Given the description of an element on the screen output the (x, y) to click on. 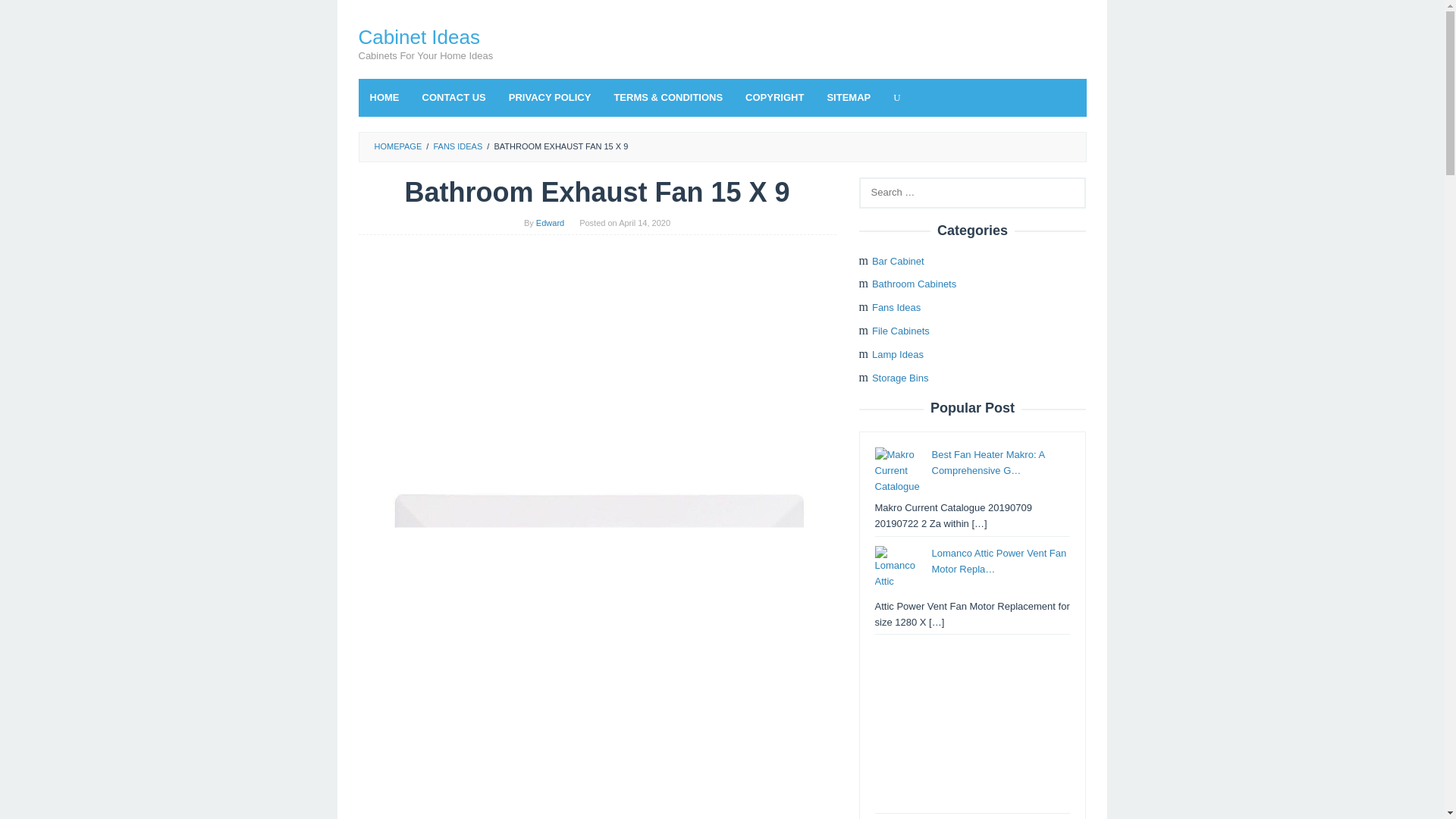
COPYRIGHT (774, 97)
File Cabinets (901, 330)
HOMEPAGE (398, 145)
Cabinet Ideas (418, 36)
Storage Bins (900, 378)
Fans Ideas (896, 307)
Bathroom Cabinets (914, 283)
Search (27, 15)
Edward (549, 222)
SITEMAP (848, 97)
FANS IDEAS (456, 145)
Permalink to: Edward (549, 222)
Bar Cabinet (898, 260)
CONTACT US (453, 97)
